Given the description of an element on the screen output the (x, y) to click on. 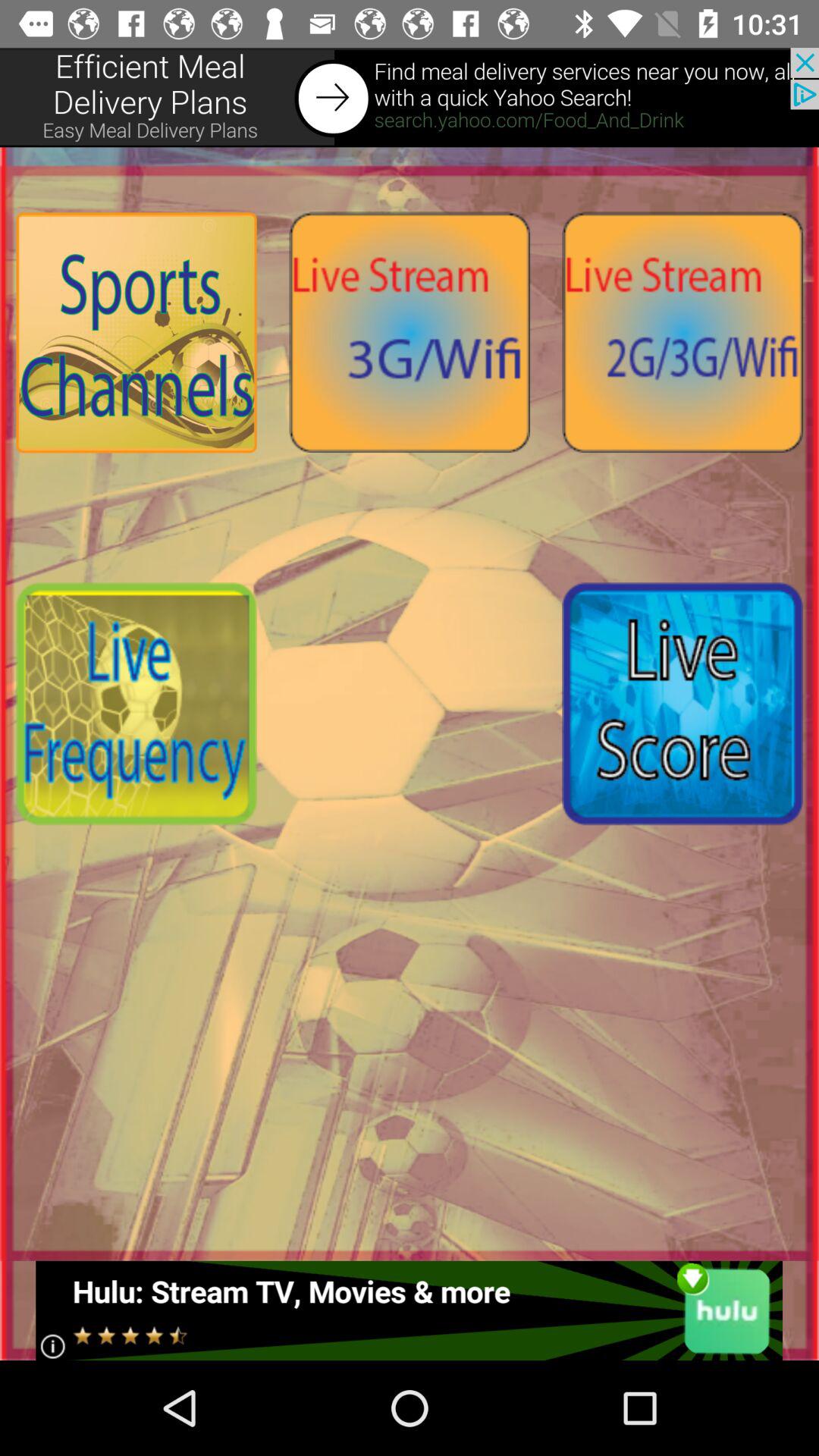
choose sports channel (136, 332)
